Given the description of an element on the screen output the (x, y) to click on. 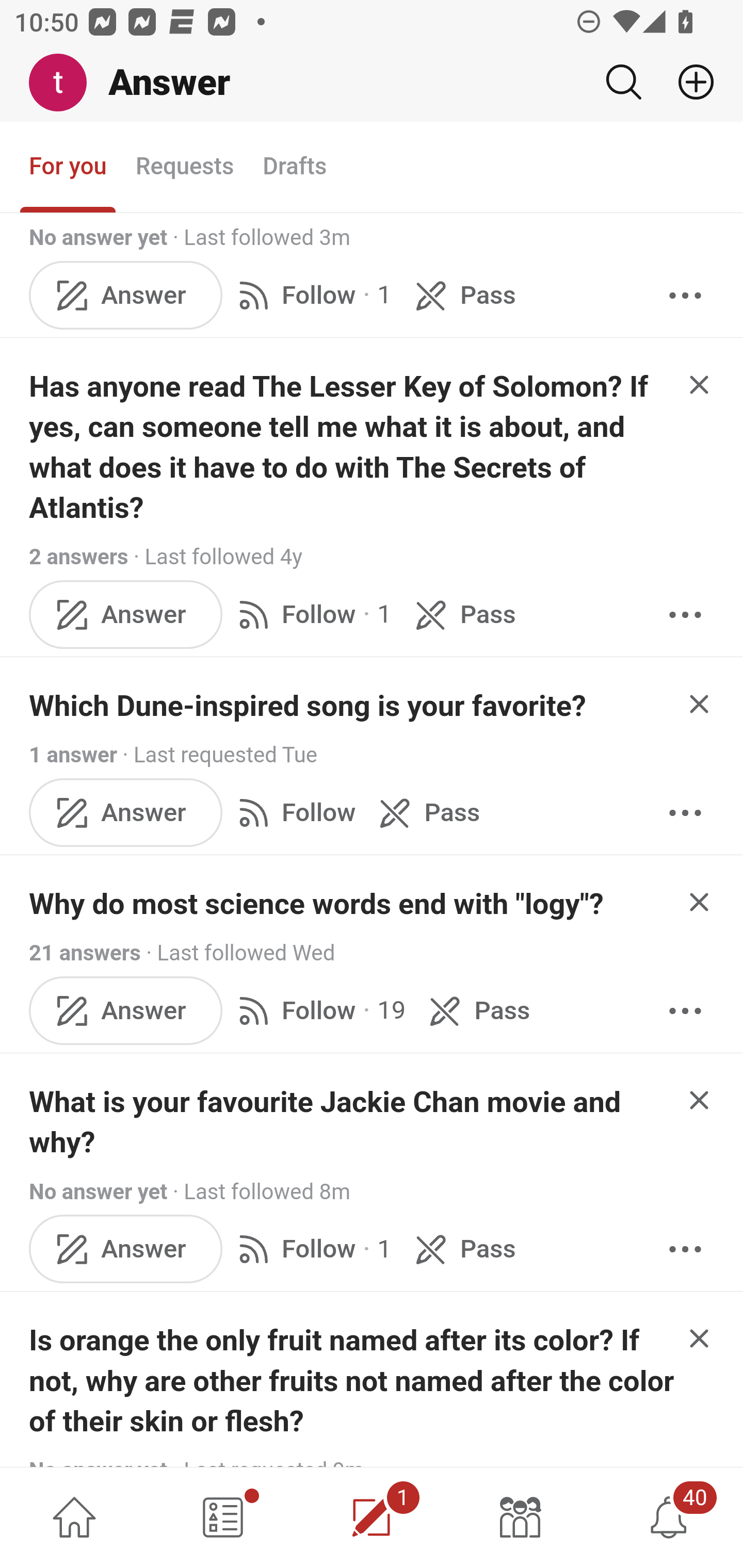
Me (64, 83)
Search (623, 82)
Add (688, 82)
For you (68, 169)
Requests (183, 169)
Drafts (295, 169)
Answer (125, 296)
Follow · 1 (311, 296)
Pass (461, 296)
More (684, 296)
Hide (699, 386)
Answer (125, 616)
Follow · 1 (311, 616)
Pass (461, 616)
More (684, 616)
Hide (699, 705)
Which Dune-inspired song is your favorite? (307, 707)
Answer (125, 813)
Follow (293, 813)
Pass (425, 813)
More (684, 813)
Hide (699, 903)
Why do most science words end with "logy"? (316, 905)
Answer (125, 1011)
Follow · 19 (317, 1011)
Pass (476, 1011)
More (684, 1011)
Hide (699, 1102)
What is your favourite Jackie Chan movie and why? (352, 1123)
Answer (125, 1250)
Follow · 1 (311, 1250)
Pass (461, 1250)
More (684, 1250)
Hide (699, 1340)
40 (668, 1517)
